Given the description of an element on the screen output the (x, y) to click on. 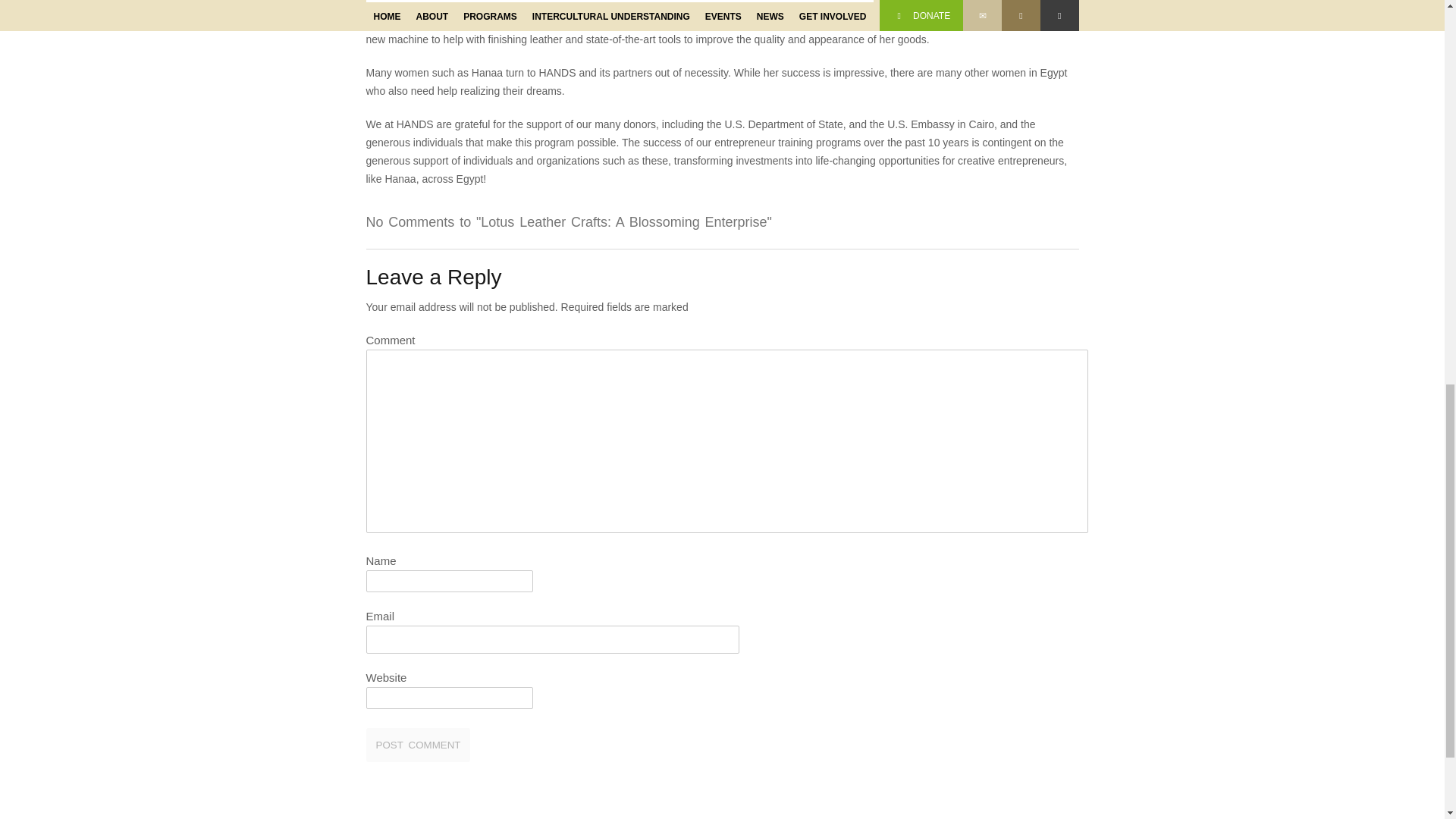
Post Comment (417, 745)
